Given the description of an element on the screen output the (x, y) to click on. 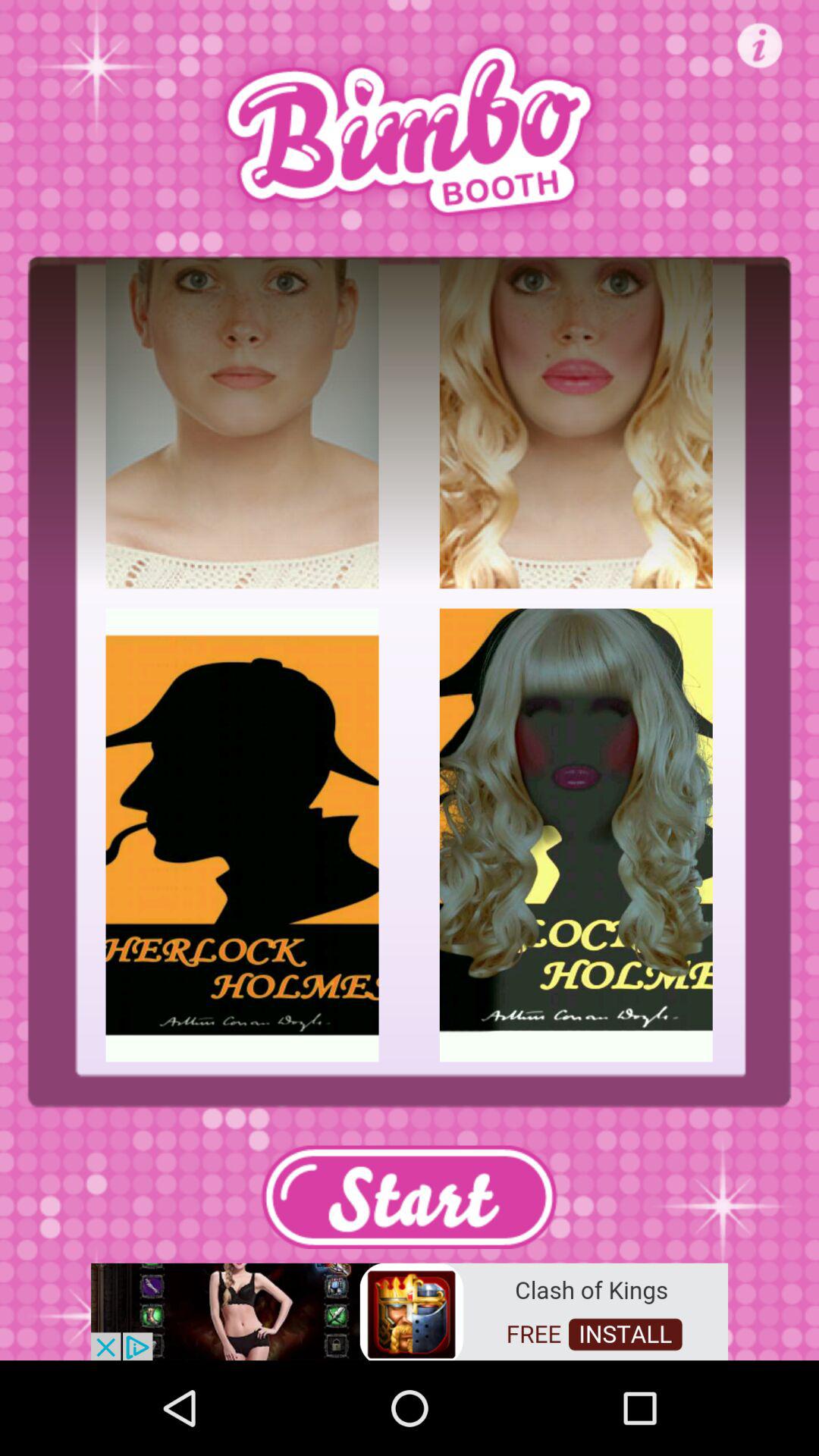
go to information option (759, 45)
